Given the description of an element on the screen output the (x, y) to click on. 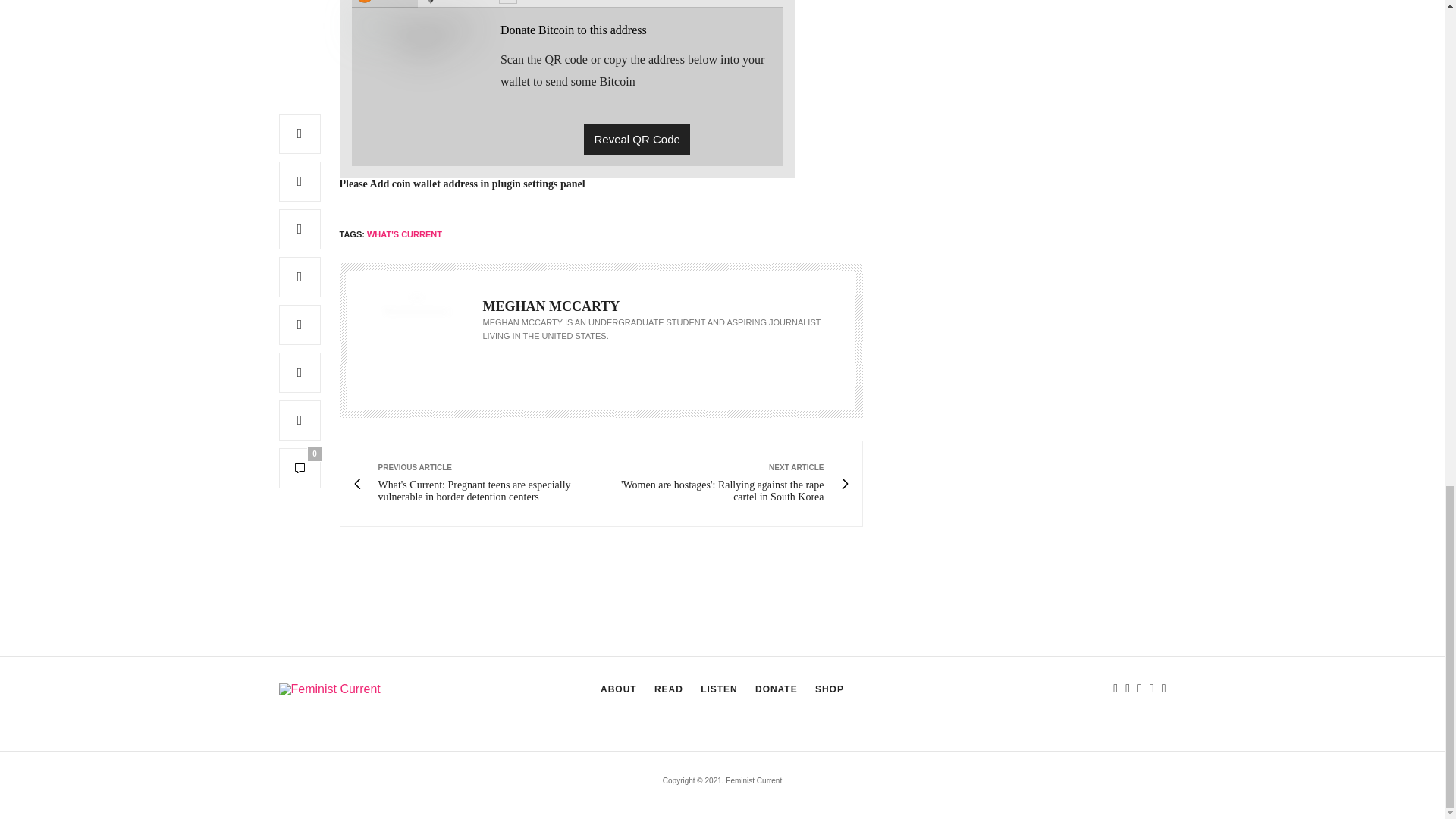
Feminist Current (329, 688)
